Given the description of an element on the screen output the (x, y) to click on. 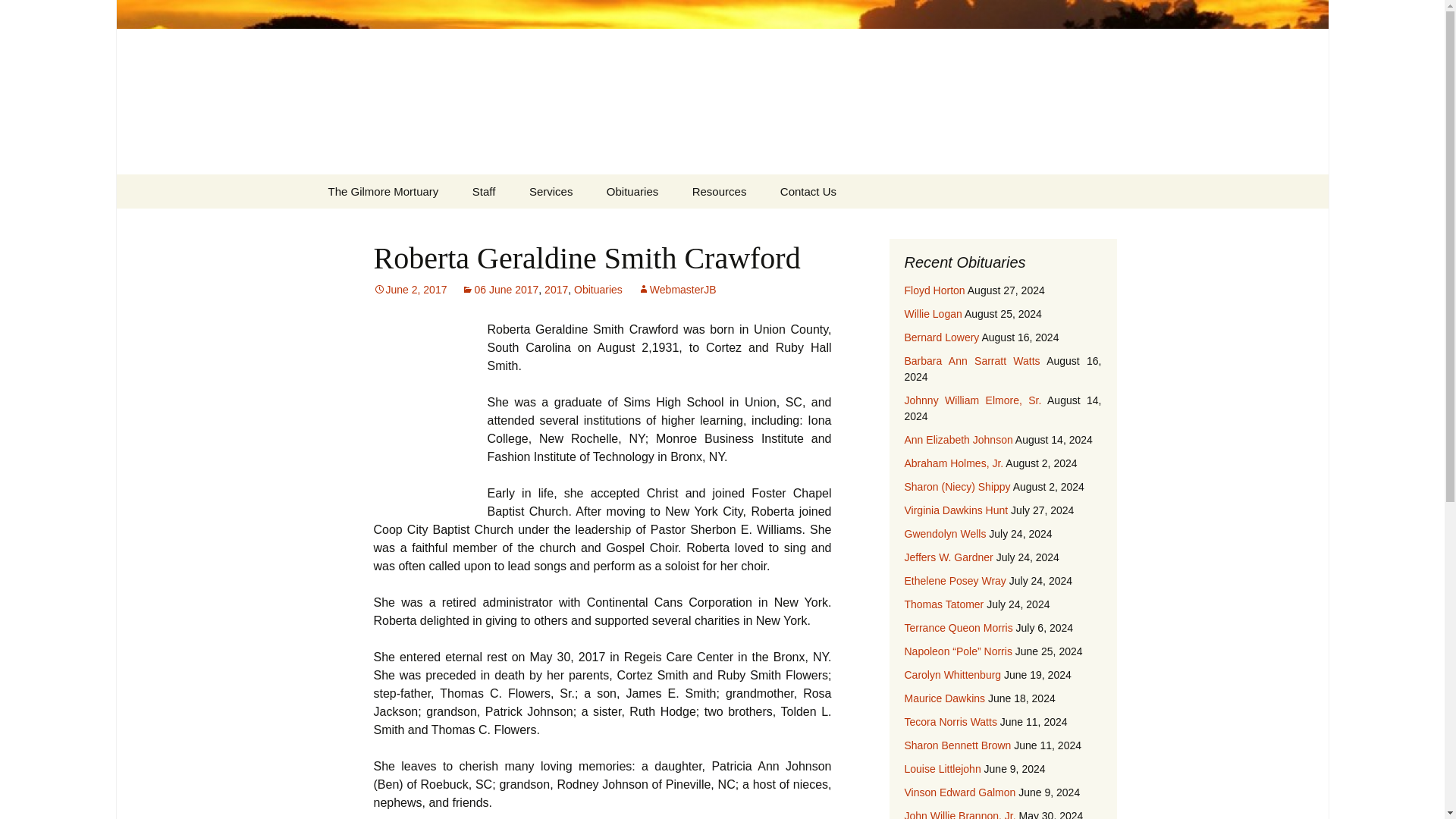
Contact Us (808, 191)
Vinson Edward Galmon (959, 792)
Tecora Norris Watts (949, 721)
Johnny William Elmore, Sr. (972, 399)
Sharon Bennett Brown (957, 745)
Ann Elizabeth Johnson (957, 439)
Barbara Ann Sarratt Watts (971, 360)
Obituaries (598, 289)
June 2, 2017 (409, 289)
